Given the description of an element on the screen output the (x, y) to click on. 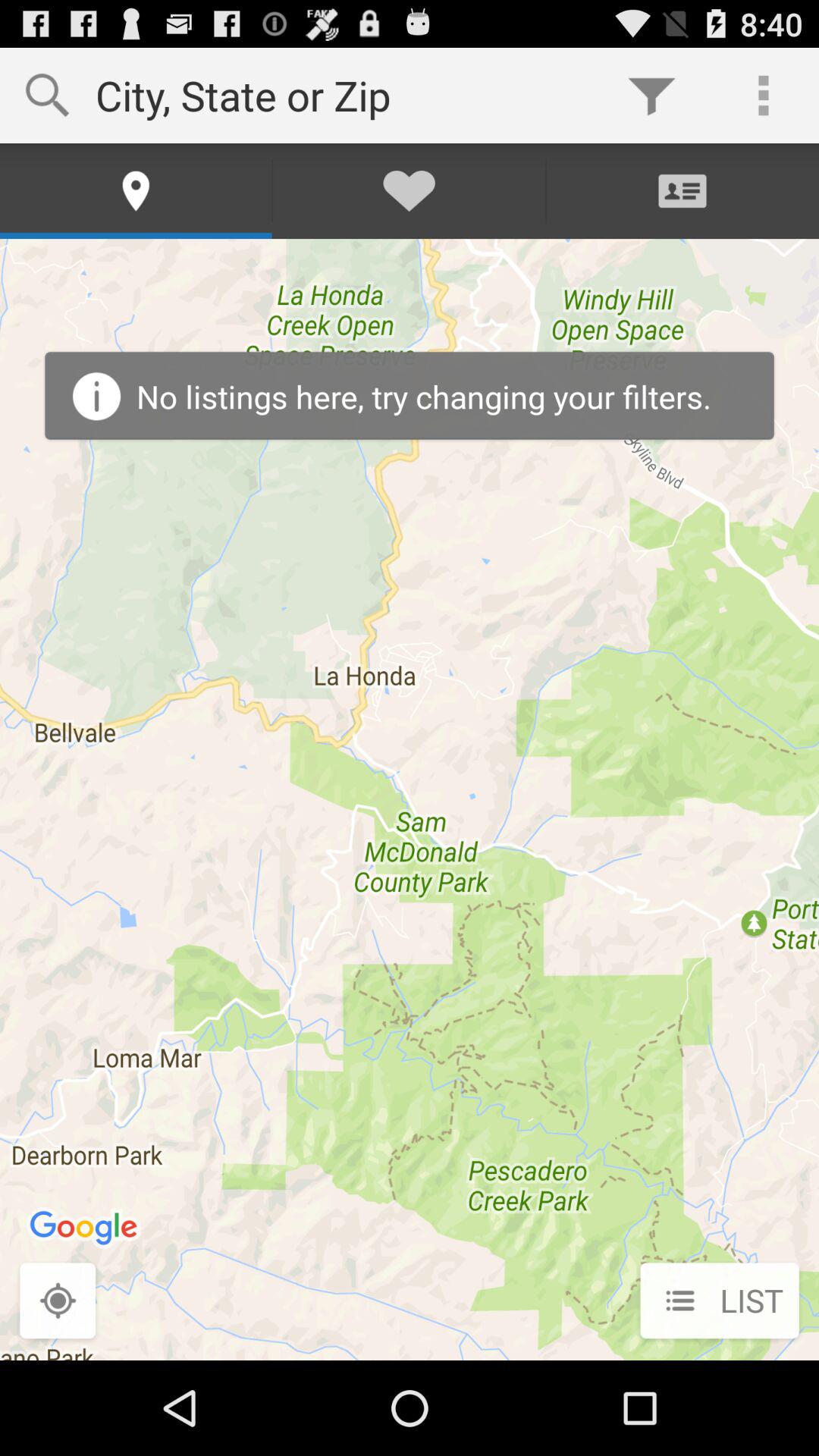
click the button at the bottom right corner (719, 1302)
